Given the description of an element on the screen output the (x, y) to click on. 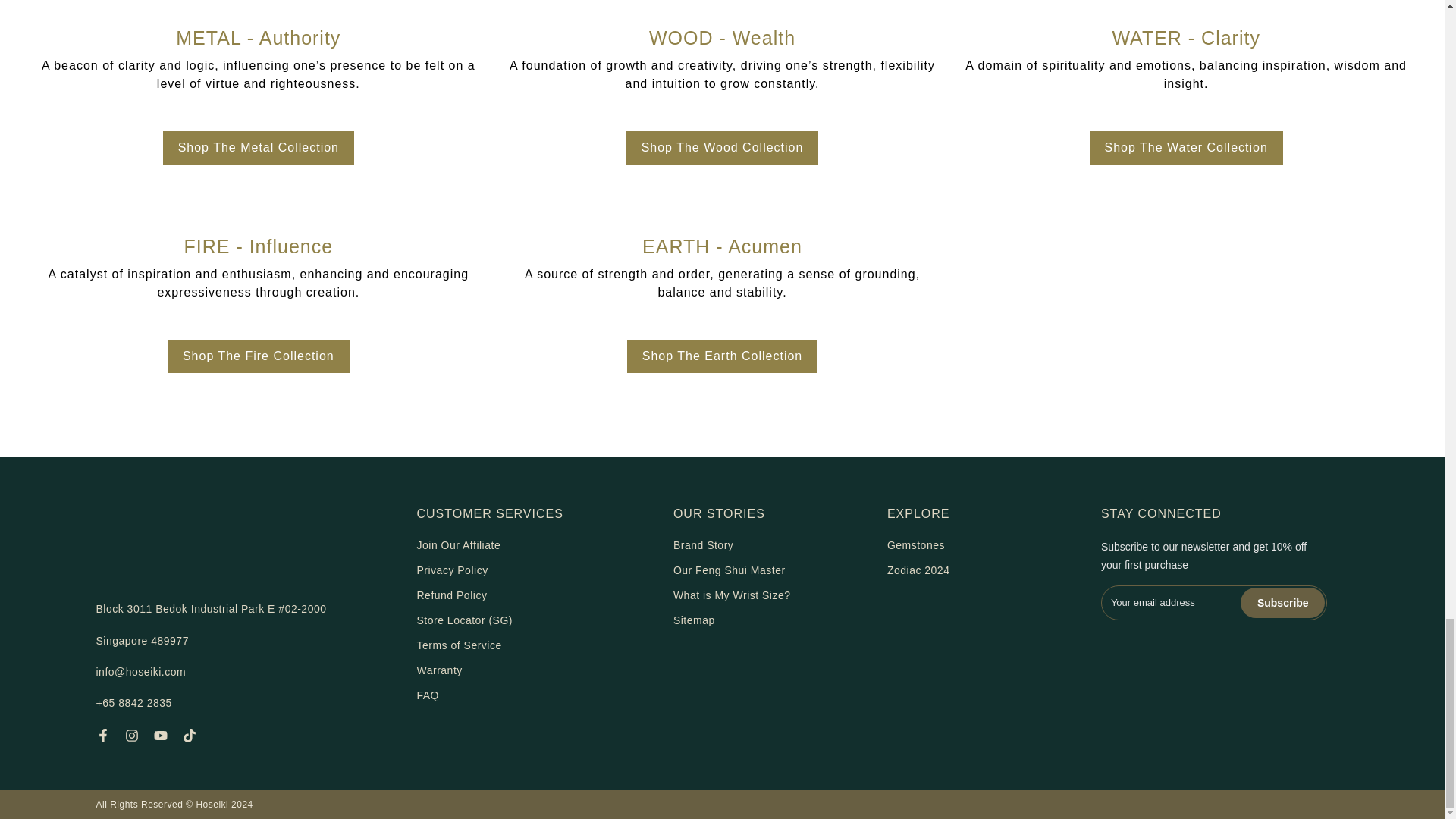
Gemstones (915, 544)
Privacy Policy (451, 570)
Subscribe (1282, 603)
Sitemap (693, 620)
FAQ (427, 695)
Zodiac 2024 (918, 570)
Shop The Water Collection (1185, 147)
Warranty (439, 670)
Shop The Metal Collection (258, 147)
Refund Policy (451, 594)
Terms of Service (459, 645)
What is My Wrist Size? (731, 594)
Brand Story (702, 544)
Shop The Fire Collection (258, 356)
Our Feng Shui Master (729, 570)
